Given the description of an element on the screen output the (x, y) to click on. 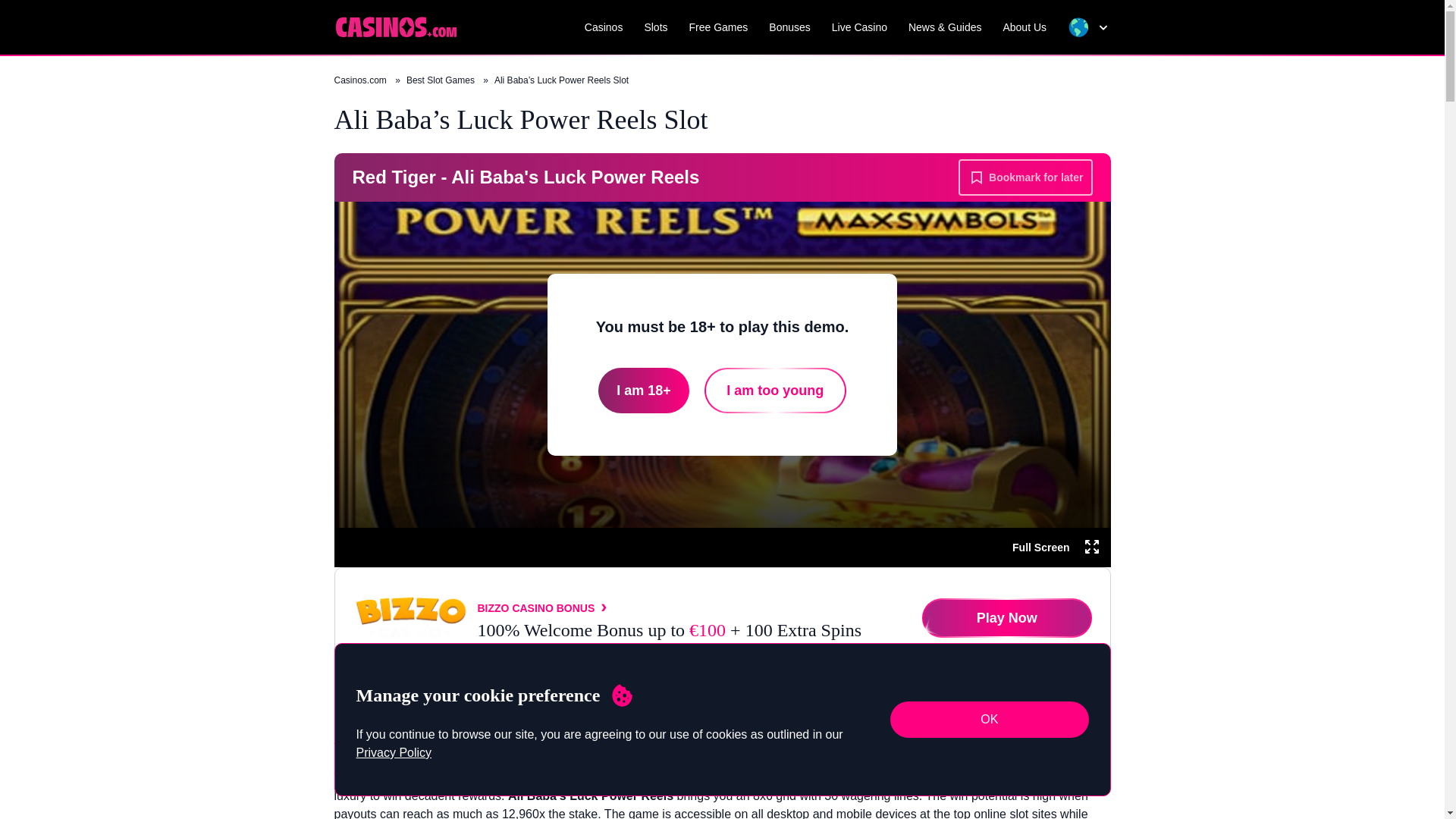
Free Games (718, 27)
Casinos.com Home (395, 26)
